Given the description of an element on the screen output the (x, y) to click on. 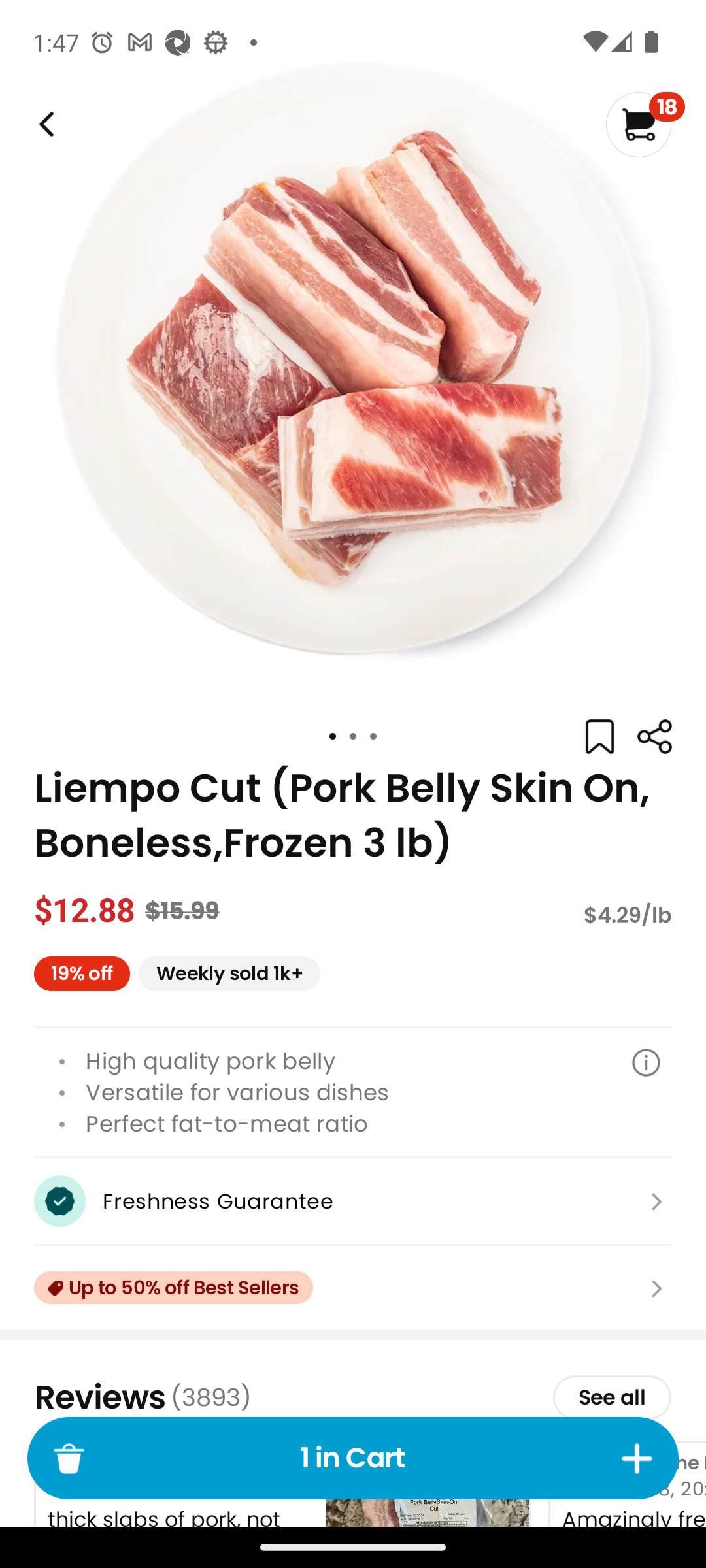
18 (644, 124)
Weee! (45, 124)
Weee! (653, 736)
Freshness Guarantee (352, 1200)
Up to 50% off Best Sellers (352, 1287)
Reviews (3893) See all (353, 1397)
1 in Cart (352, 1458)
